Given the description of an element on the screen output the (x, y) to click on. 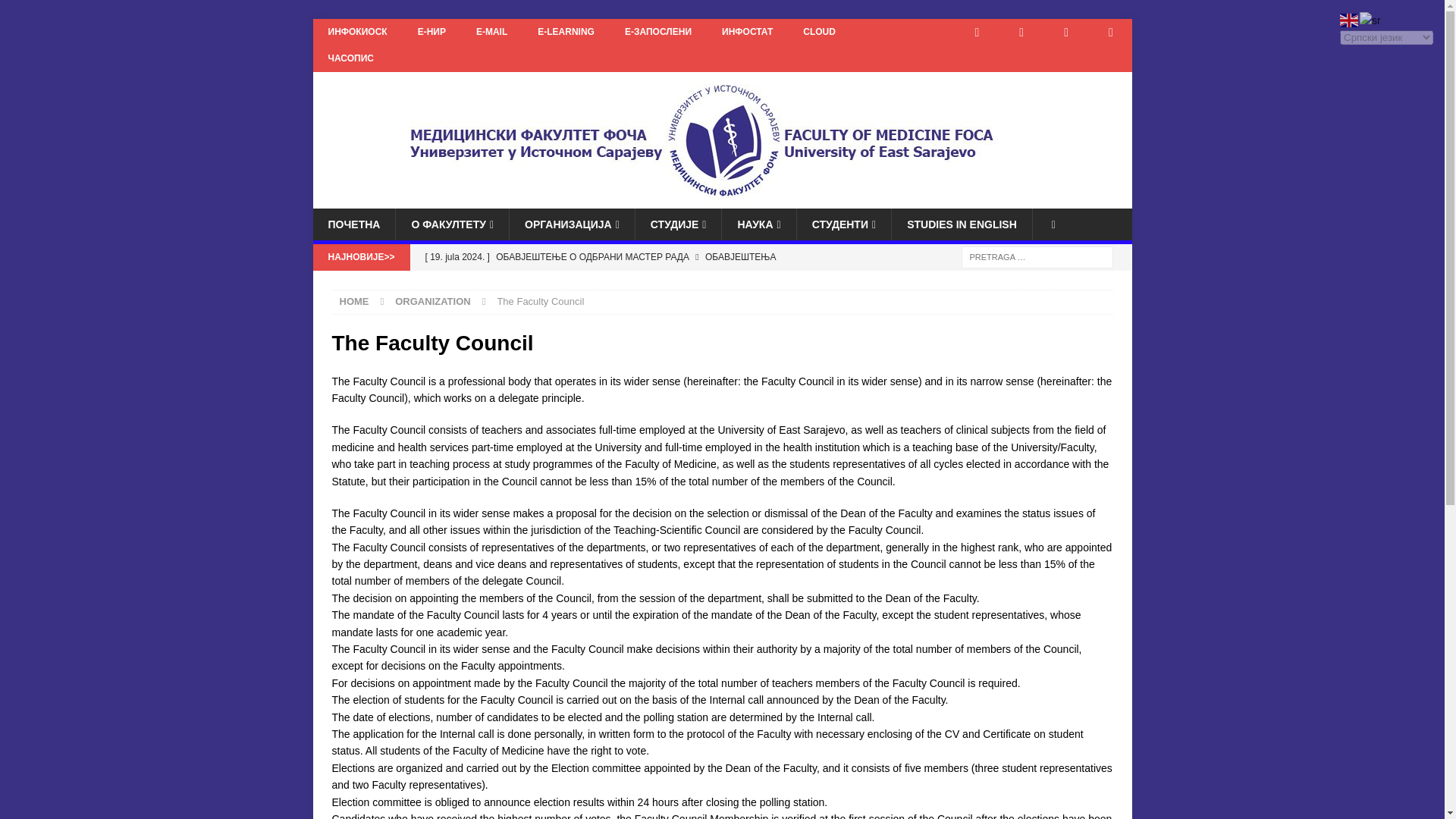
E-MAIL (491, 31)
E-LEARNING (566, 31)
English (1349, 19)
CLOUD (818, 31)
